Given the description of an element on the screen output the (x, y) to click on. 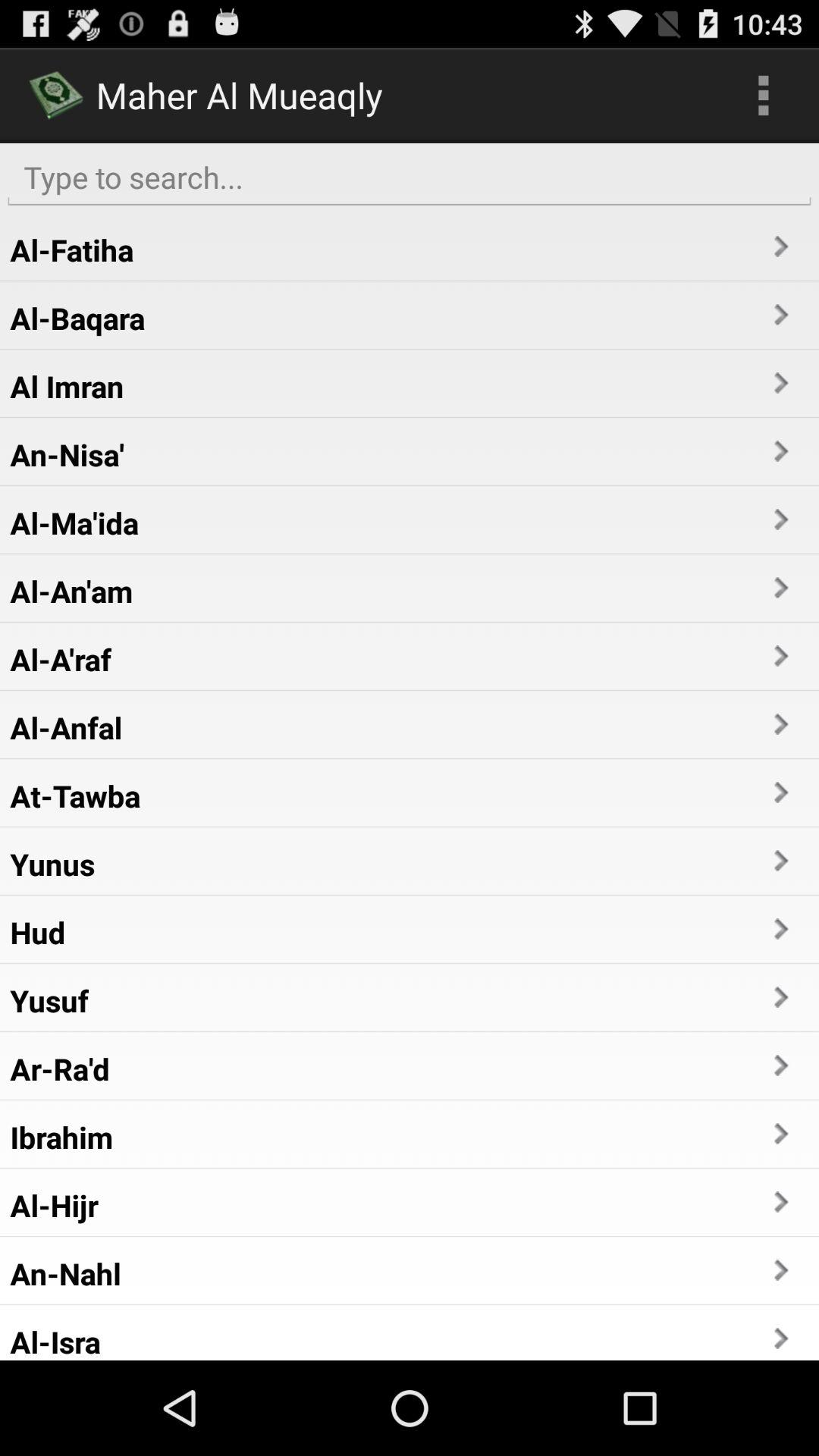
launch the at-tawba app (75, 795)
